Given the description of an element on the screen output the (x, y) to click on. 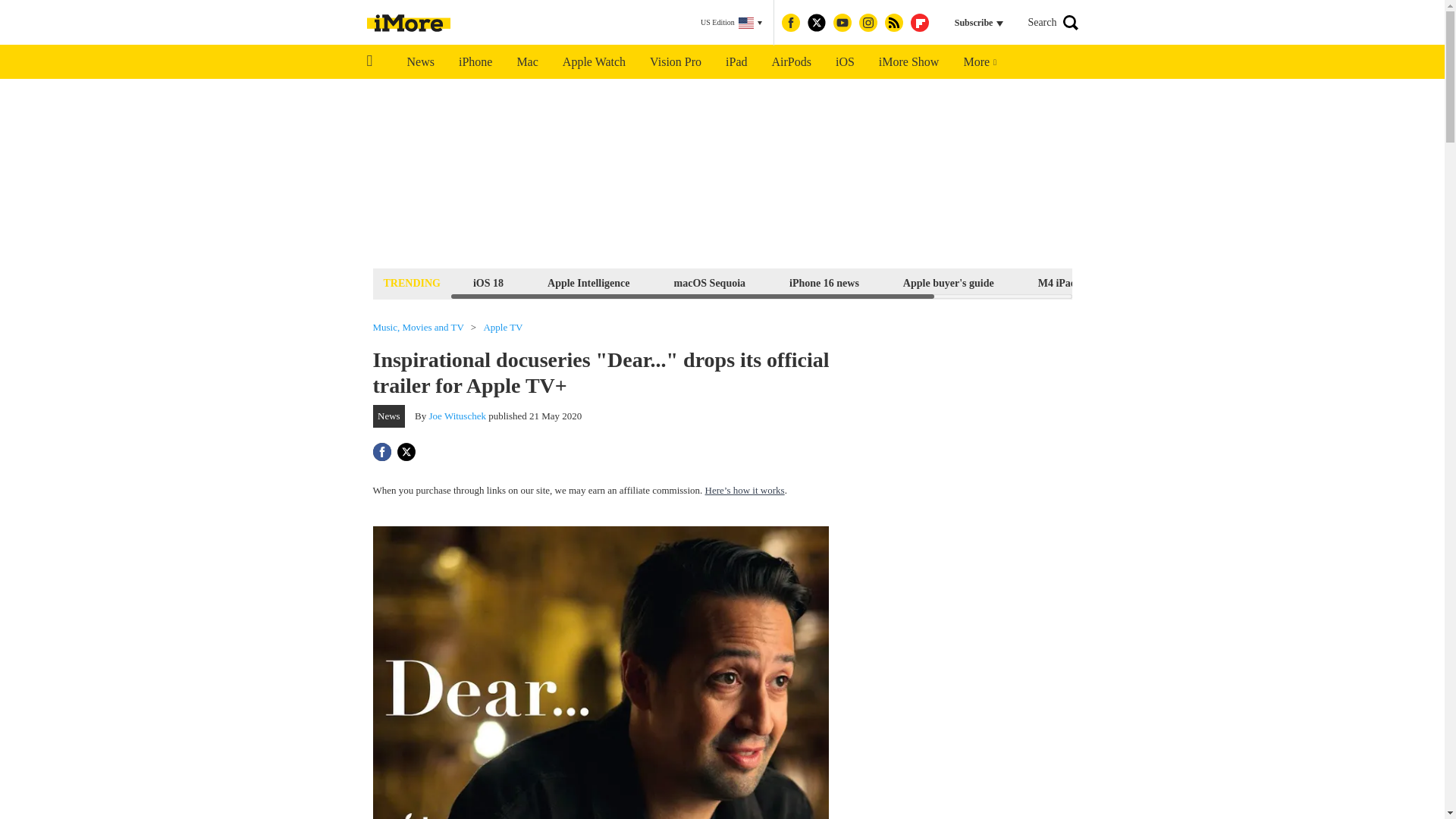
Vision Pro (675, 61)
AirPods (792, 61)
Mac (526, 61)
News (419, 61)
iMore Show (909, 61)
Apple Watch (593, 61)
iPhone (474, 61)
US Edition (731, 22)
iOS (845, 61)
iPad (735, 61)
